Given the description of an element on the screen output the (x, y) to click on. 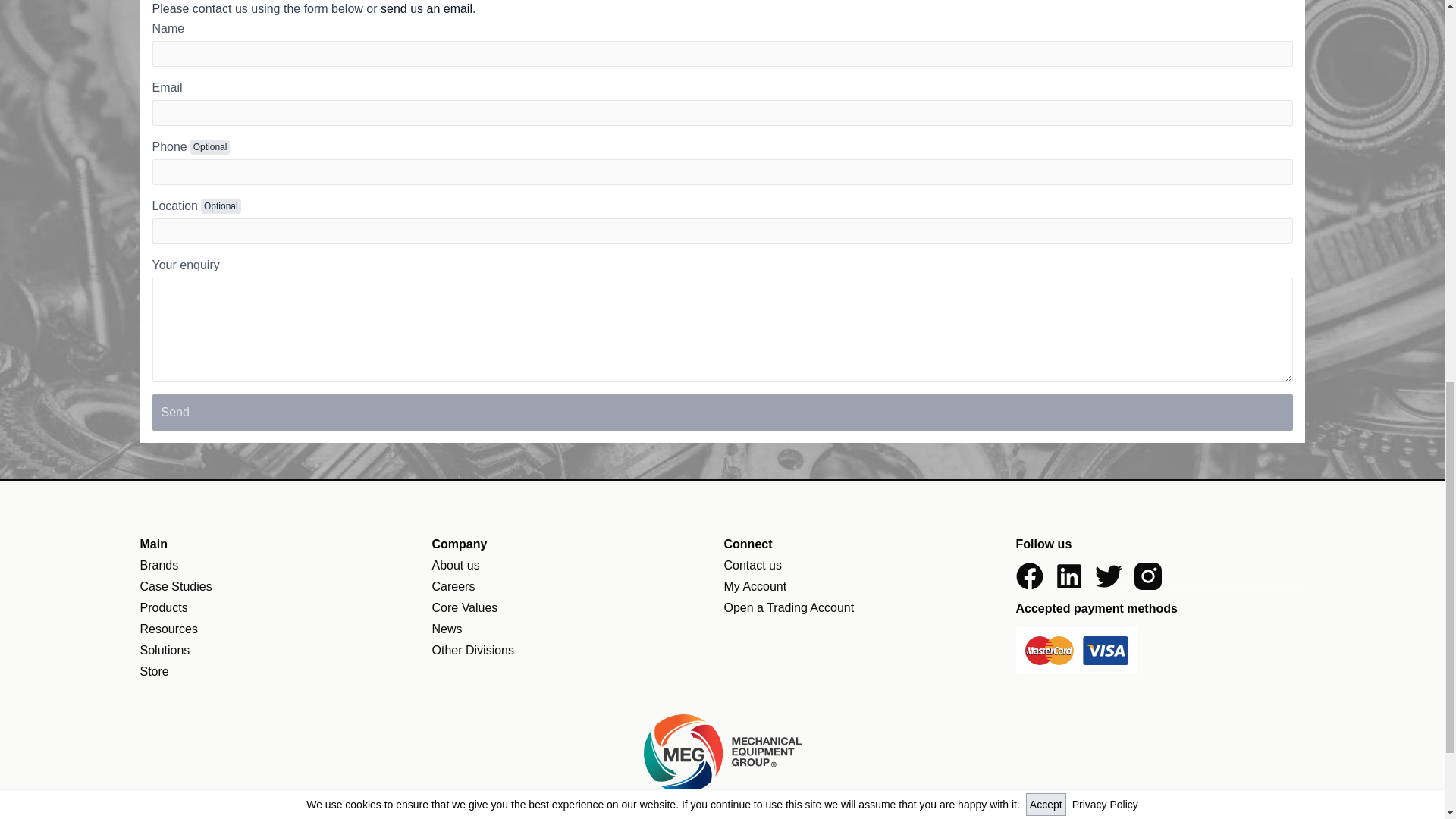
Contact us (751, 564)
Store (153, 671)
Products (163, 607)
Company (576, 544)
My Account (754, 585)
Careers (454, 585)
Connect (867, 544)
Solutions (164, 649)
Open a Trading Account (788, 607)
Main (283, 544)
Brands (158, 564)
send us an email (425, 8)
Core Values (464, 607)
About us (456, 564)
Case Studies (175, 585)
